Given the description of an element on the screen output the (x, y) to click on. 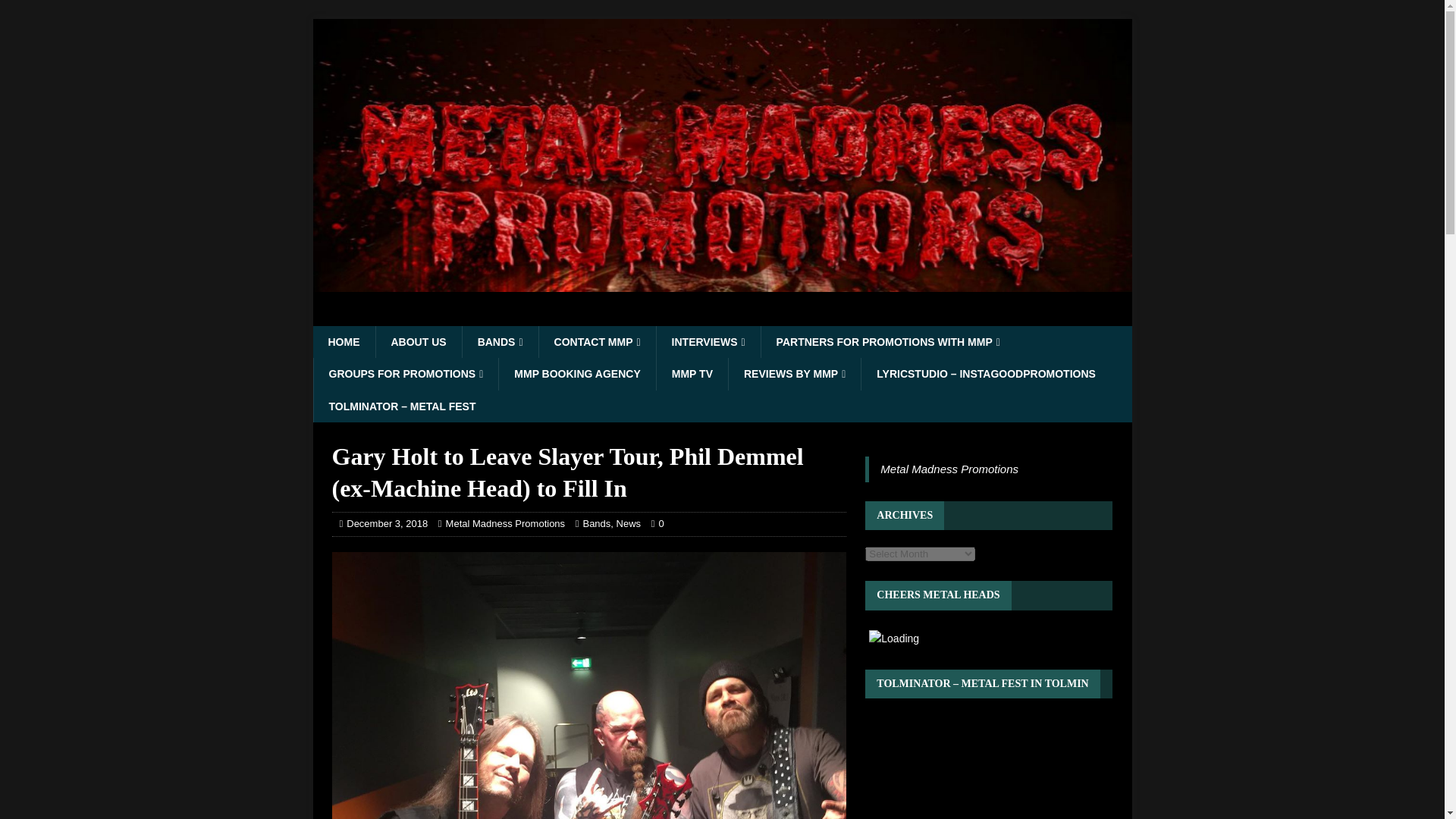
BANDS (499, 341)
HOME (343, 341)
ABOUT US (417, 341)
CONTACT MMP (597, 341)
INTERVIEWS (708, 341)
